Given the description of an element on the screen output the (x, y) to click on. 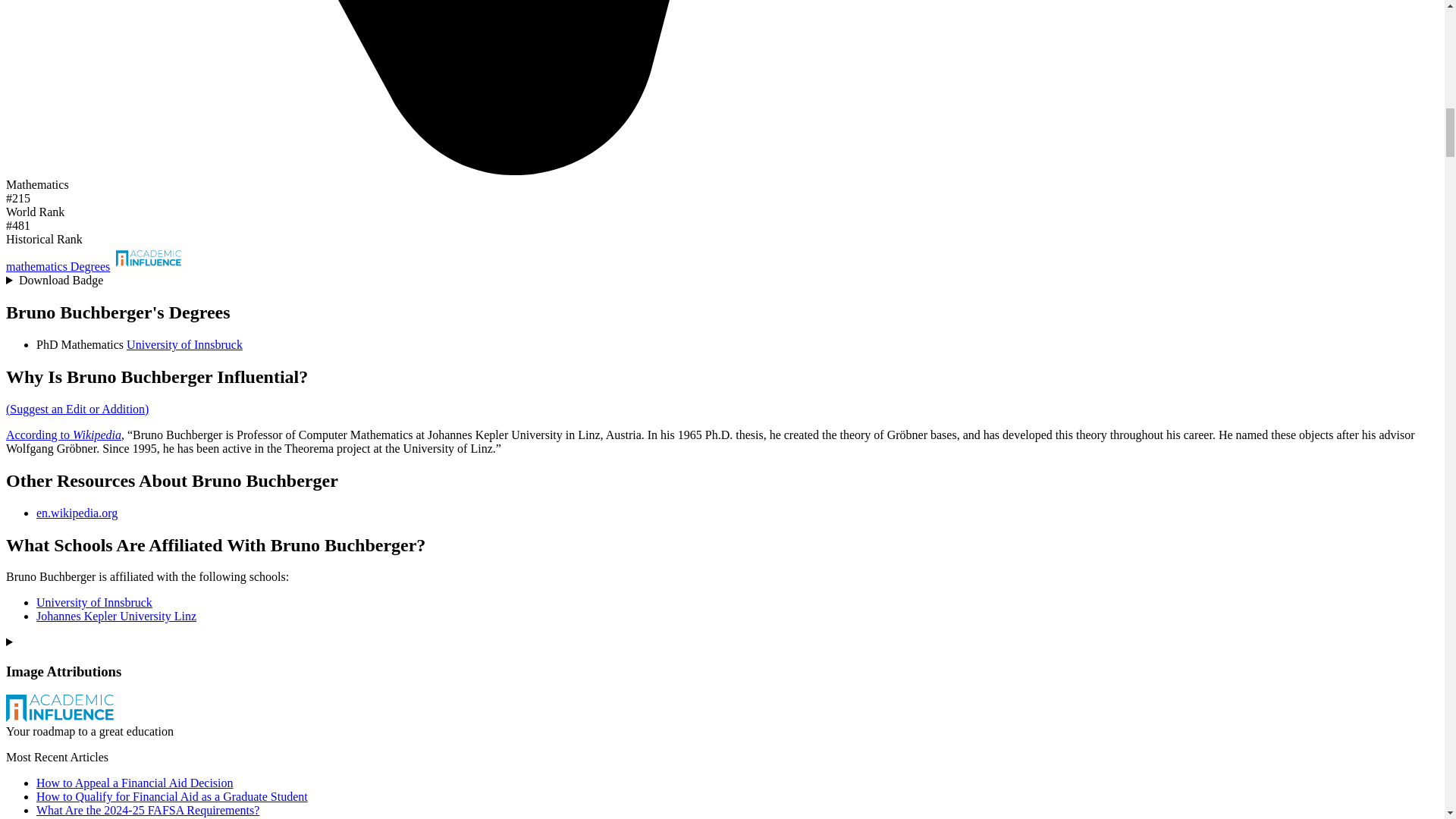
mathematics Degrees (57, 266)
How to Appeal a Financial Aid Decision (134, 782)
University of Innsbruck (94, 602)
University of Innsbruck (184, 344)
Johannes Kepler University Linz (116, 615)
How to Qualify for Financial Aid as a Graduate Student (171, 796)
en.wikipedia.org (76, 512)
What Are the 2024-25 FAFSA Requirements? (147, 809)
According to Wikipedia (62, 434)
